Given the description of an element on the screen output the (x, y) to click on. 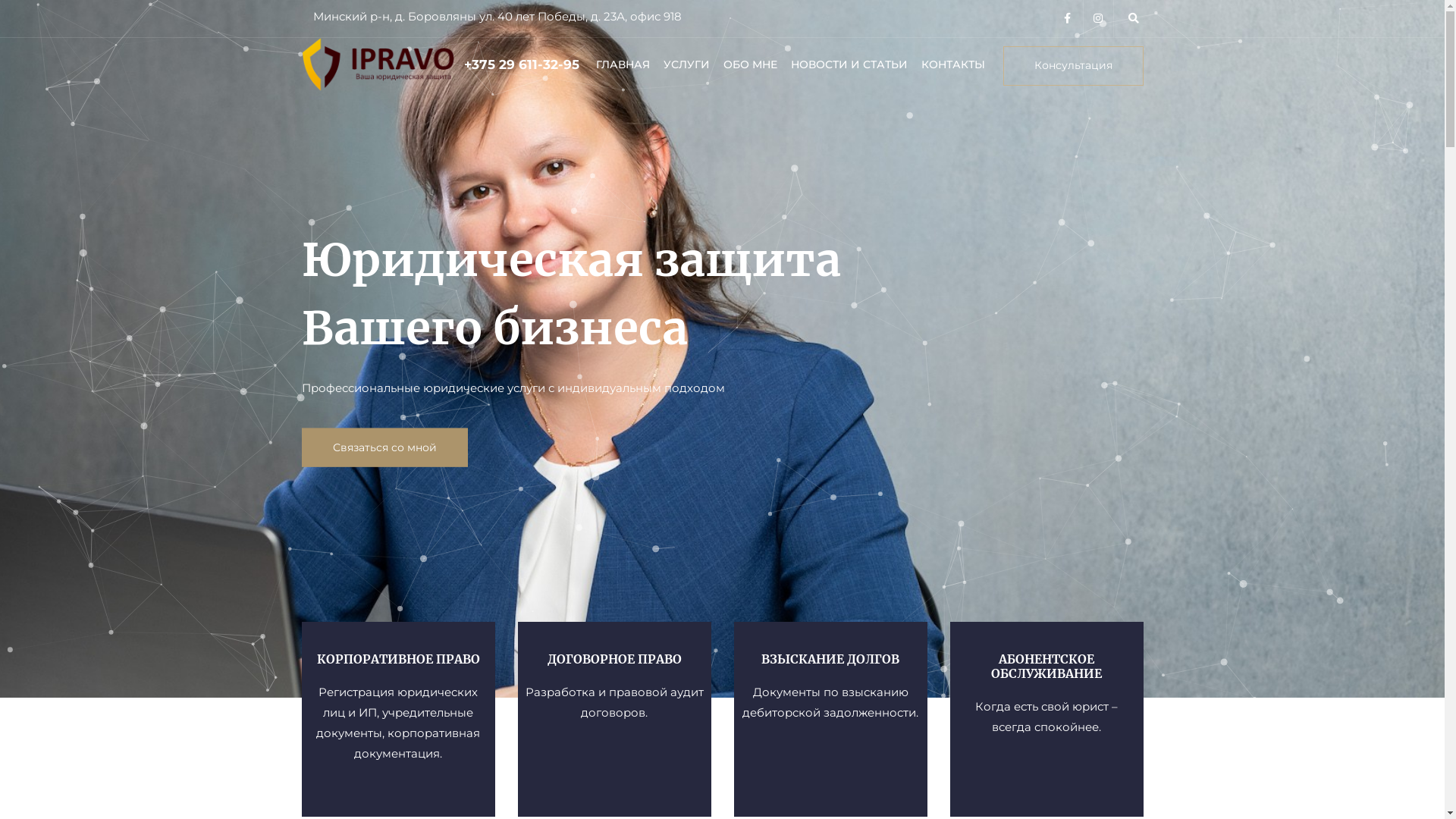
+375 29 611-32-95 Element type: text (521, 64)
